Given the description of an element on the screen output the (x, y) to click on. 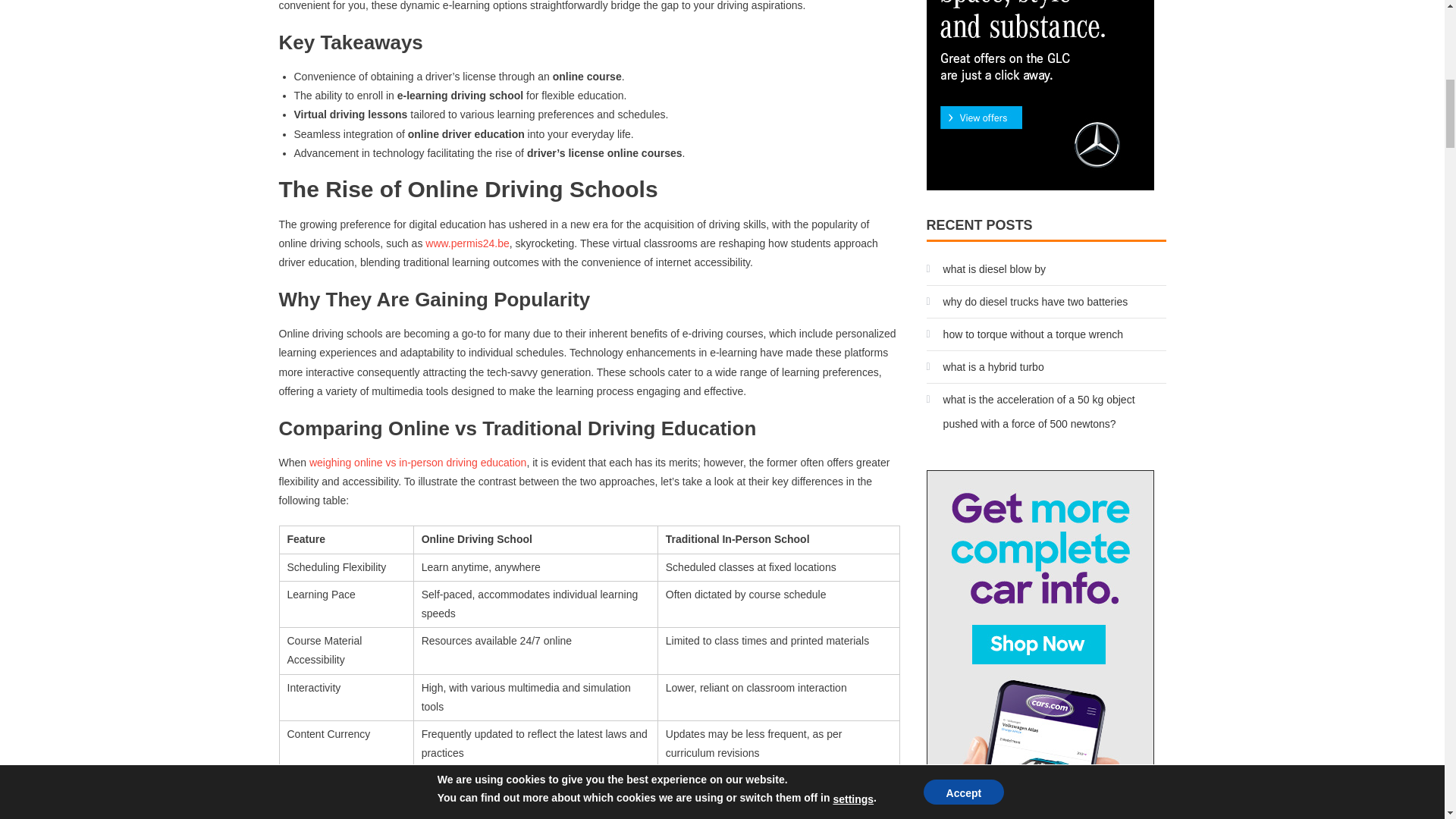
www.permis24.be (467, 243)
weighing online vs in-person driving education (416, 462)
